Given the description of an element on the screen output the (x, y) to click on. 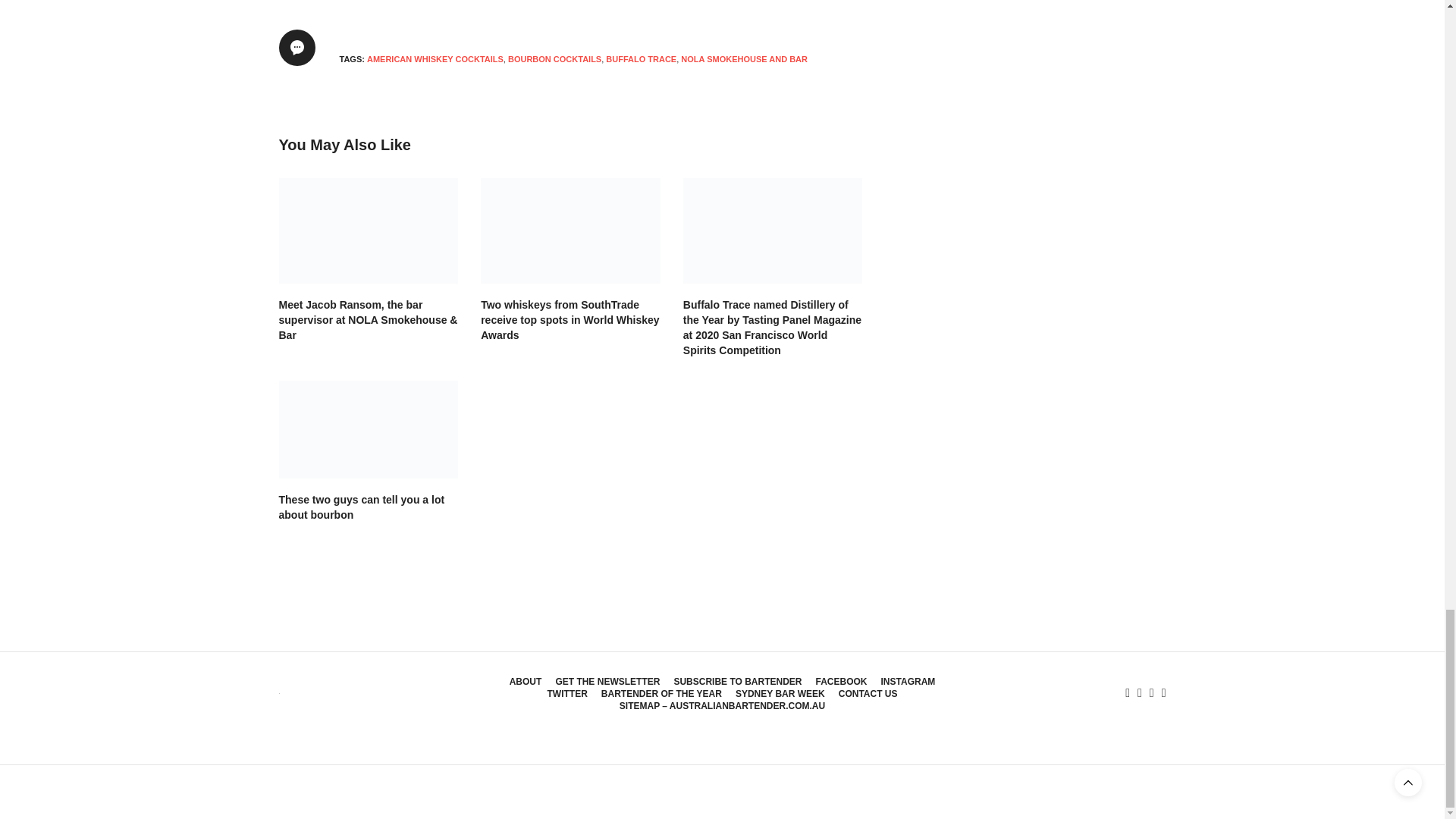
These two guys can tell you a lot about bourbon (362, 506)
These two guys can tell you a lot about bourbon (368, 429)
